Given the description of an element on the screen output the (x, y) to click on. 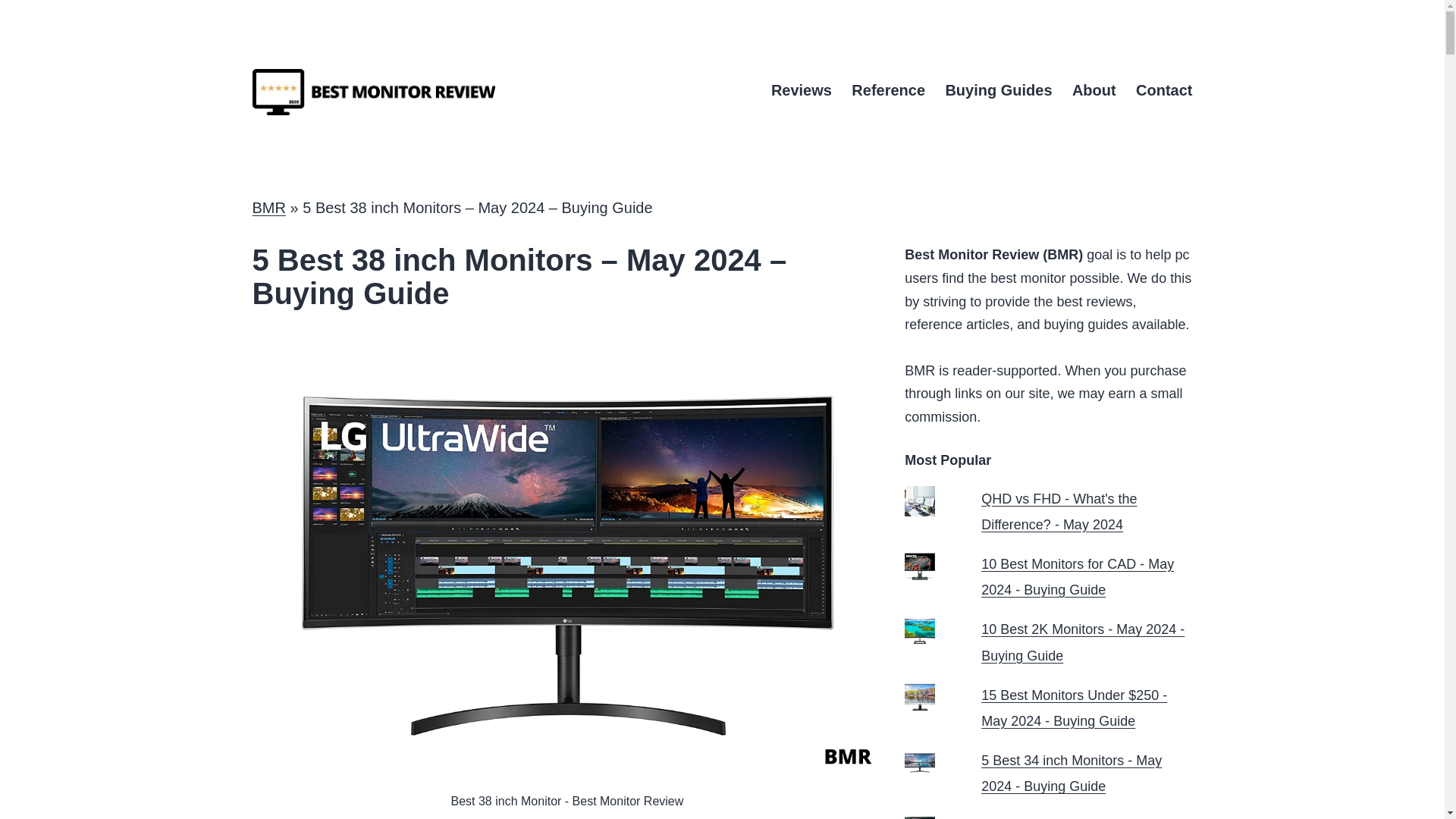
QHD vs FHD - What's the Difference? - May 2024 (1059, 511)
10 Best Monitors for CAD - May 2024 - Buying Guide (1077, 576)
Contact (1163, 90)
Buying Guides (998, 90)
Reference (887, 90)
BMR (268, 207)
5 Best 34 inch Monitors - May 2024 - Buying Guide (1071, 772)
About (1093, 90)
10 Best 2K Monitors - May 2024 - Buying Guide (1083, 641)
Reviews (801, 90)
